Given the description of an element on the screen output the (x, y) to click on. 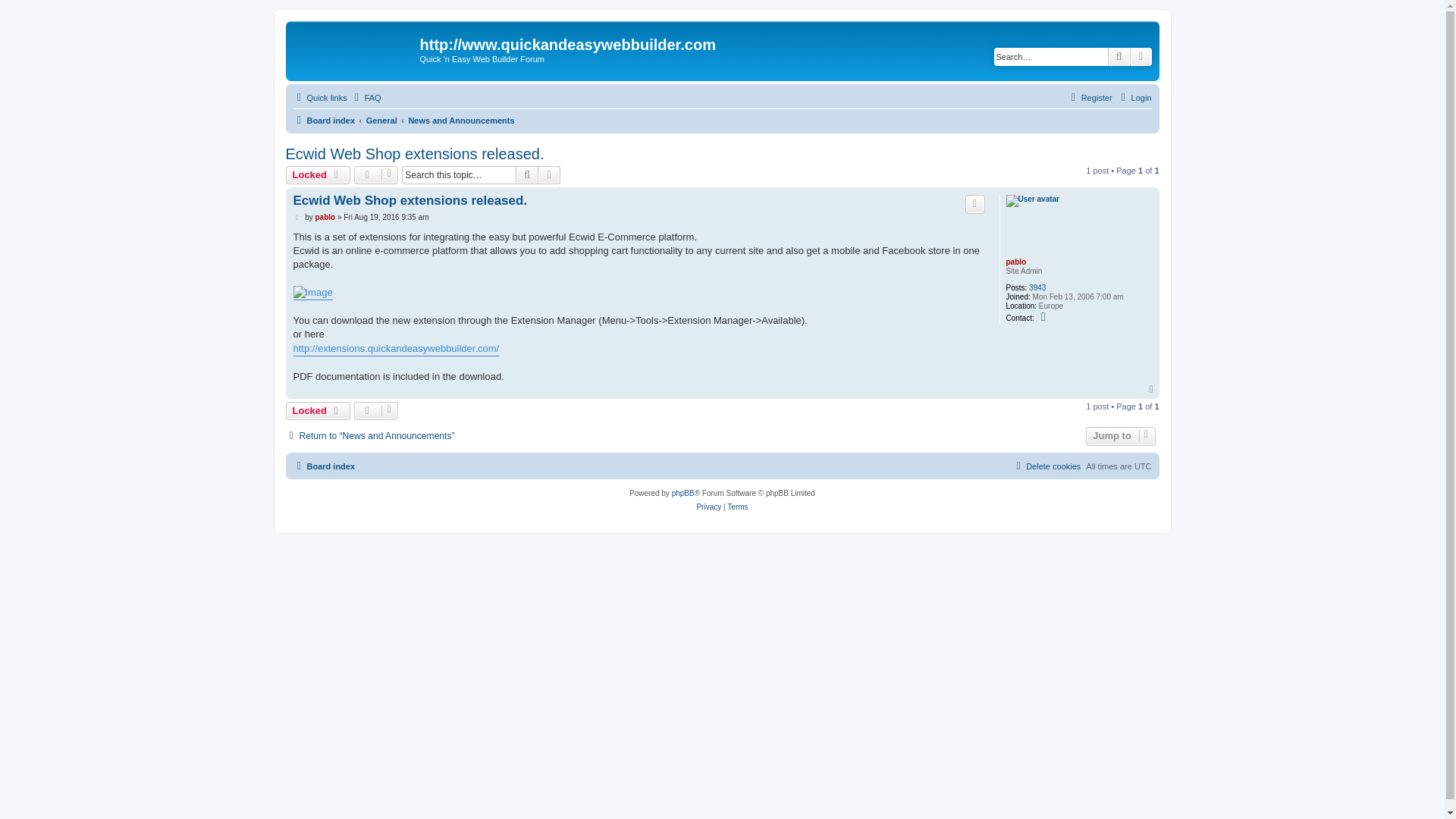
Locked (317, 411)
Login (1134, 97)
FAQ (365, 97)
Top (1151, 389)
Ecwid Web Shop extensions released. (414, 153)
Quick links (319, 97)
Board index (323, 120)
Login (1134, 97)
Locked (317, 175)
pablo (324, 216)
